Given the description of an element on the screen output the (x, y) to click on. 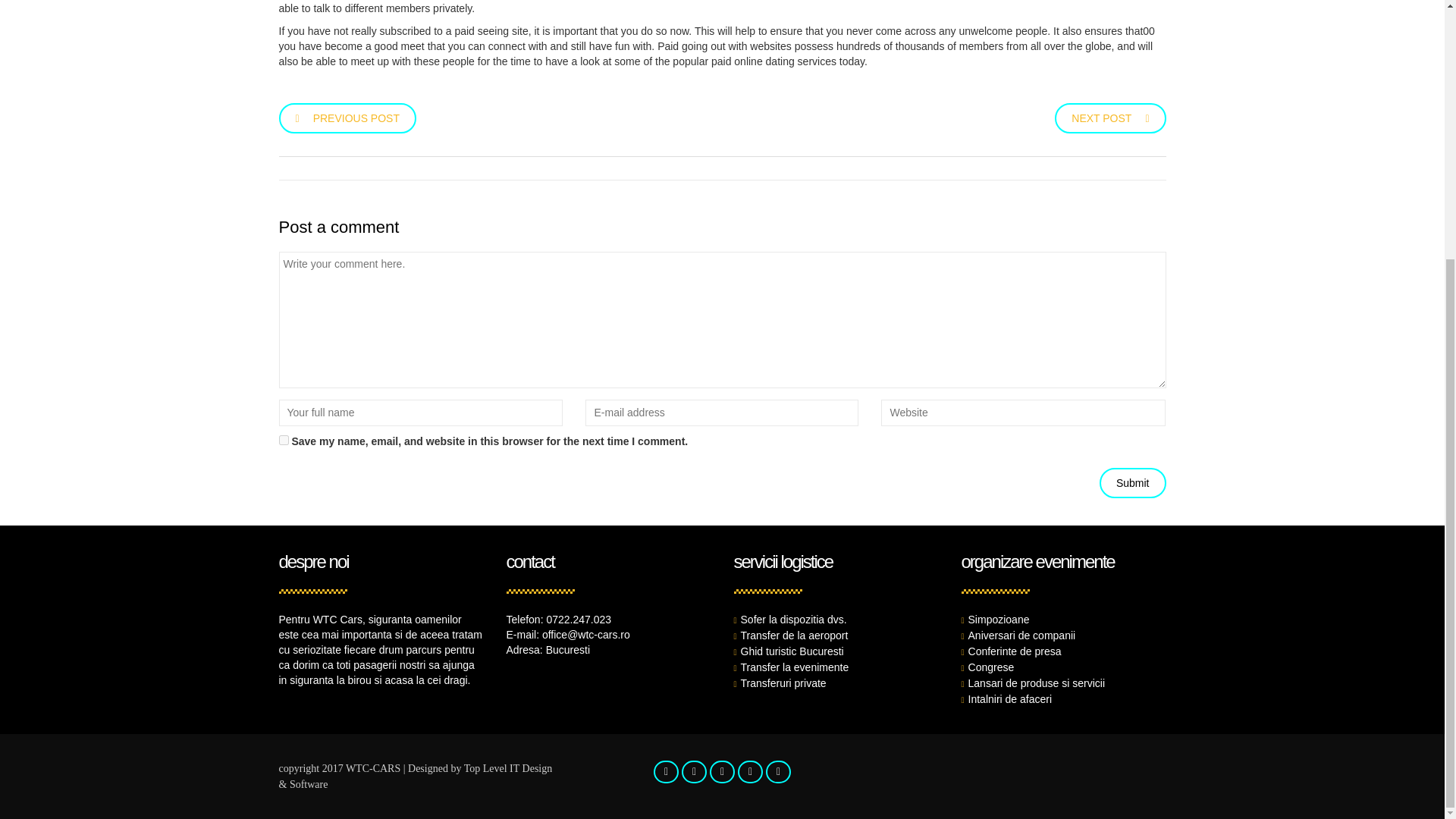
PREVIOUS POST (347, 116)
NEXT POST (1110, 116)
yes (283, 439)
Submit (1132, 482)
Submit (1132, 482)
